Given the description of an element on the screen output the (x, y) to click on. 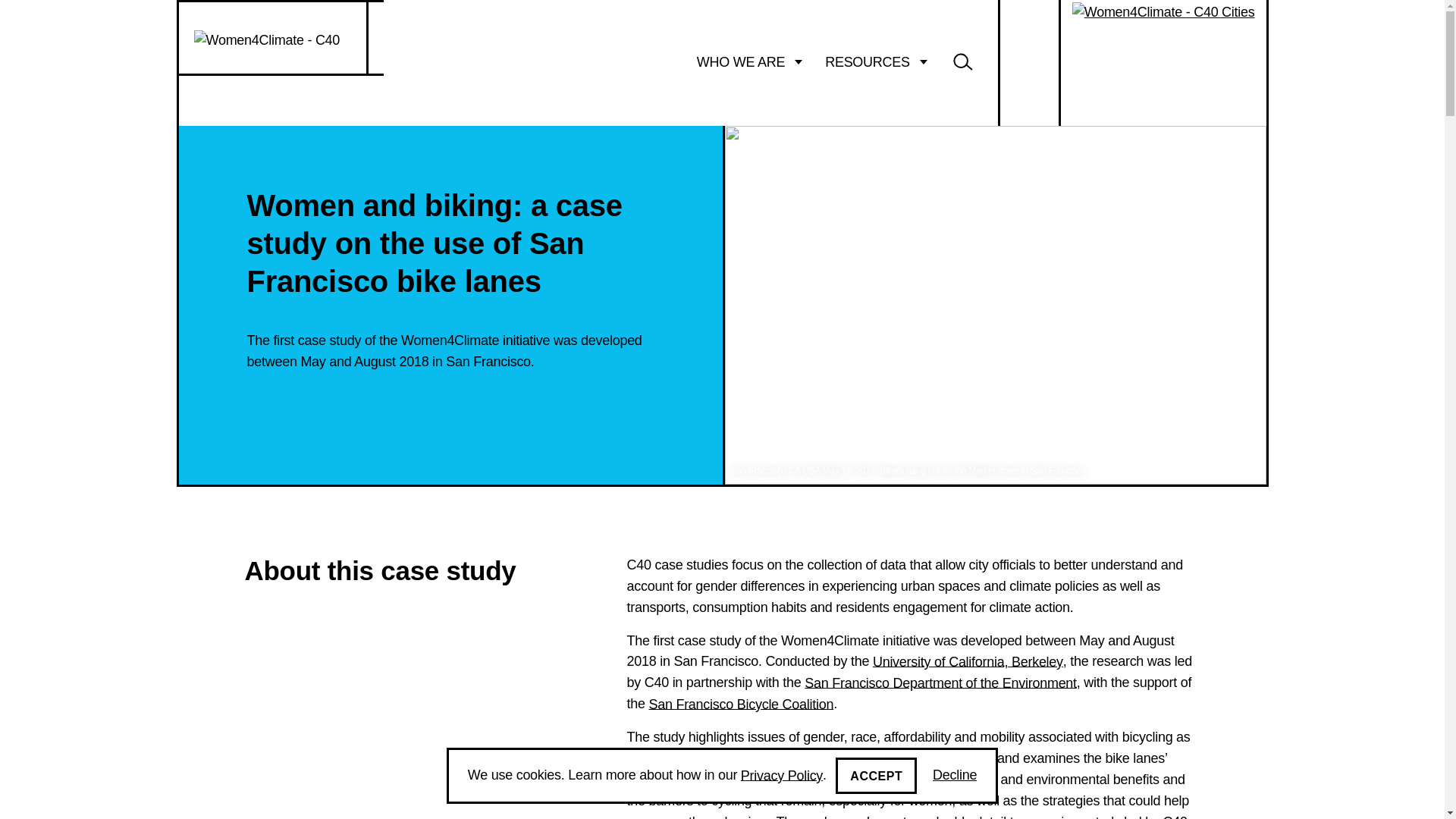
Environment (1039, 682)
University of California, Berkeley (967, 660)
San Francisco Bicycle Coalition (740, 703)
RESOURCES (876, 62)
San Francisco Department of the  (903, 682)
WHO WE ARE (749, 62)
LANGUAGE (1031, 62)
